Given the description of an element on the screen output the (x, y) to click on. 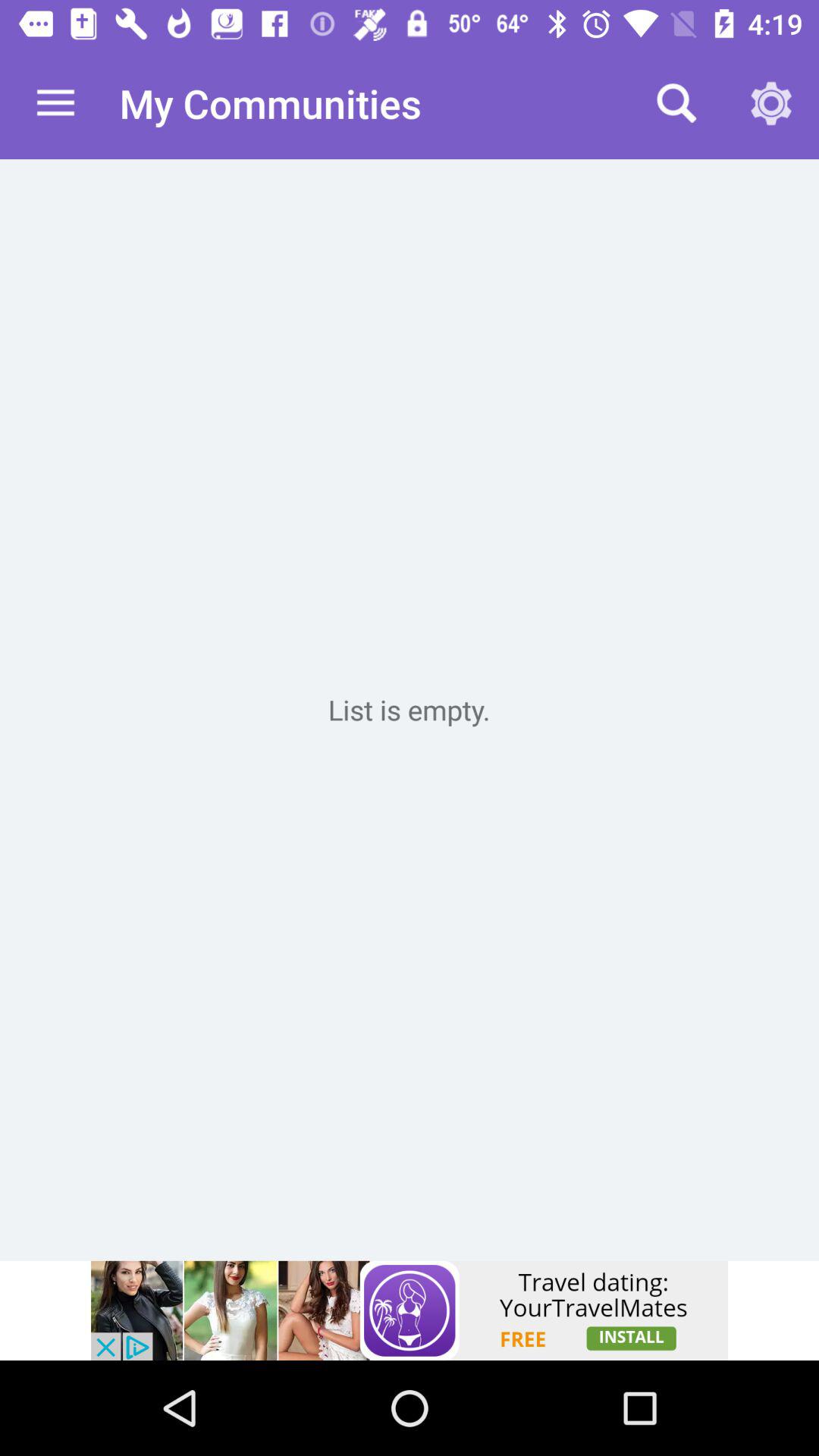
new tab page (409, 709)
